Given the description of an element on the screen output the (x, y) to click on. 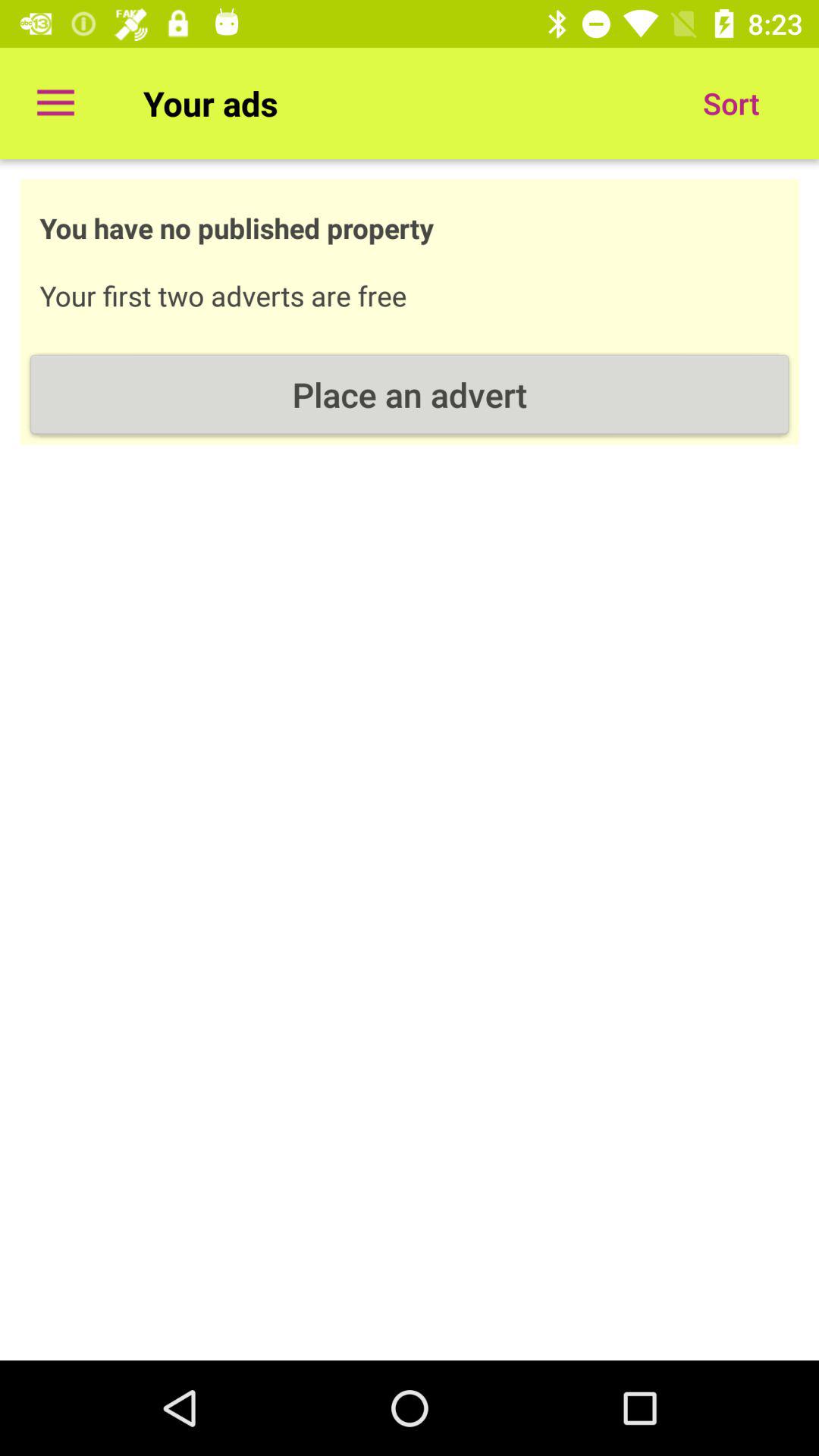
launch the icon above you have no (55, 103)
